Given the description of an element on the screen output the (x, y) to click on. 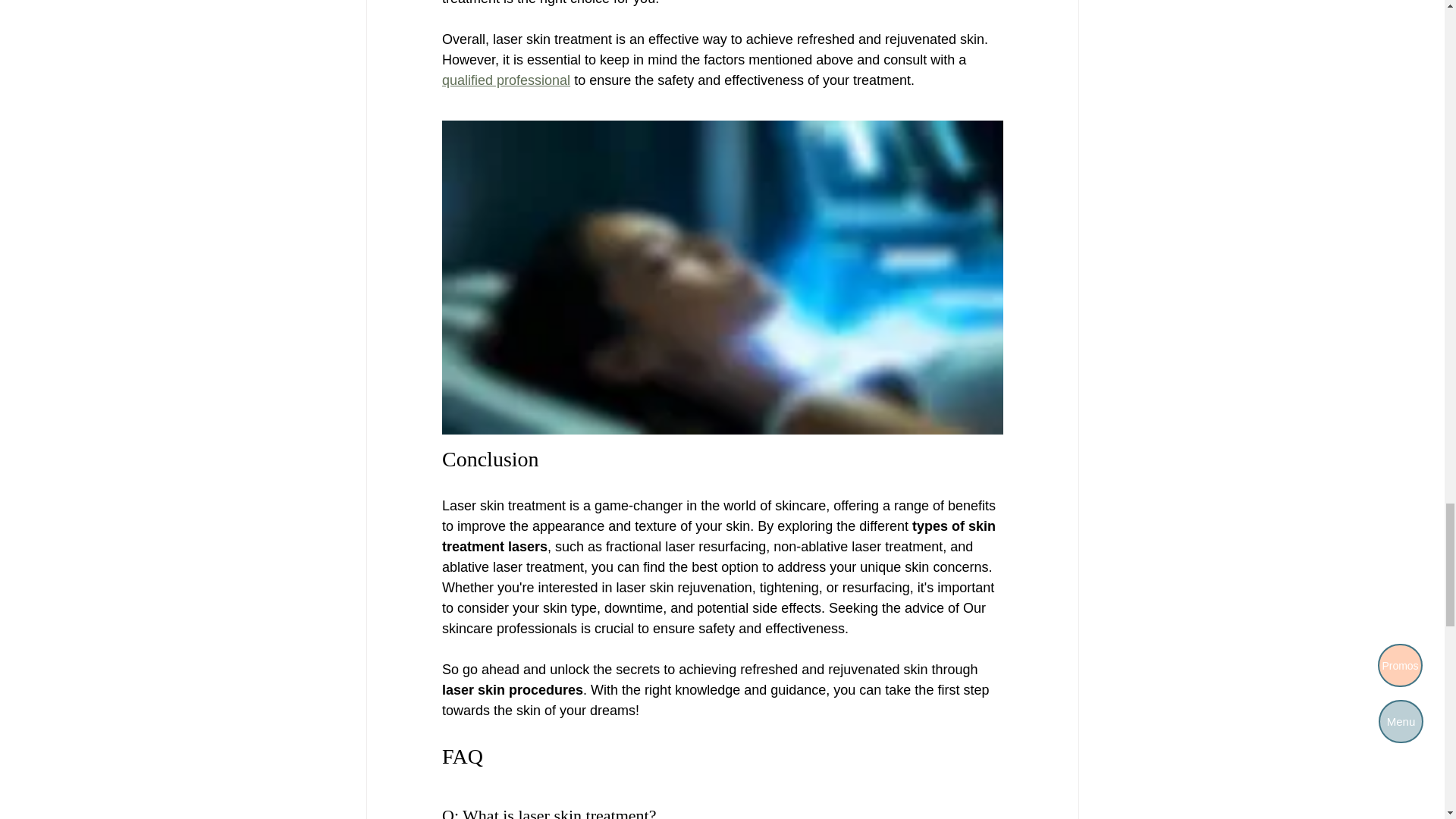
qualified professional (505, 79)
